Given the description of an element on the screen output the (x, y) to click on. 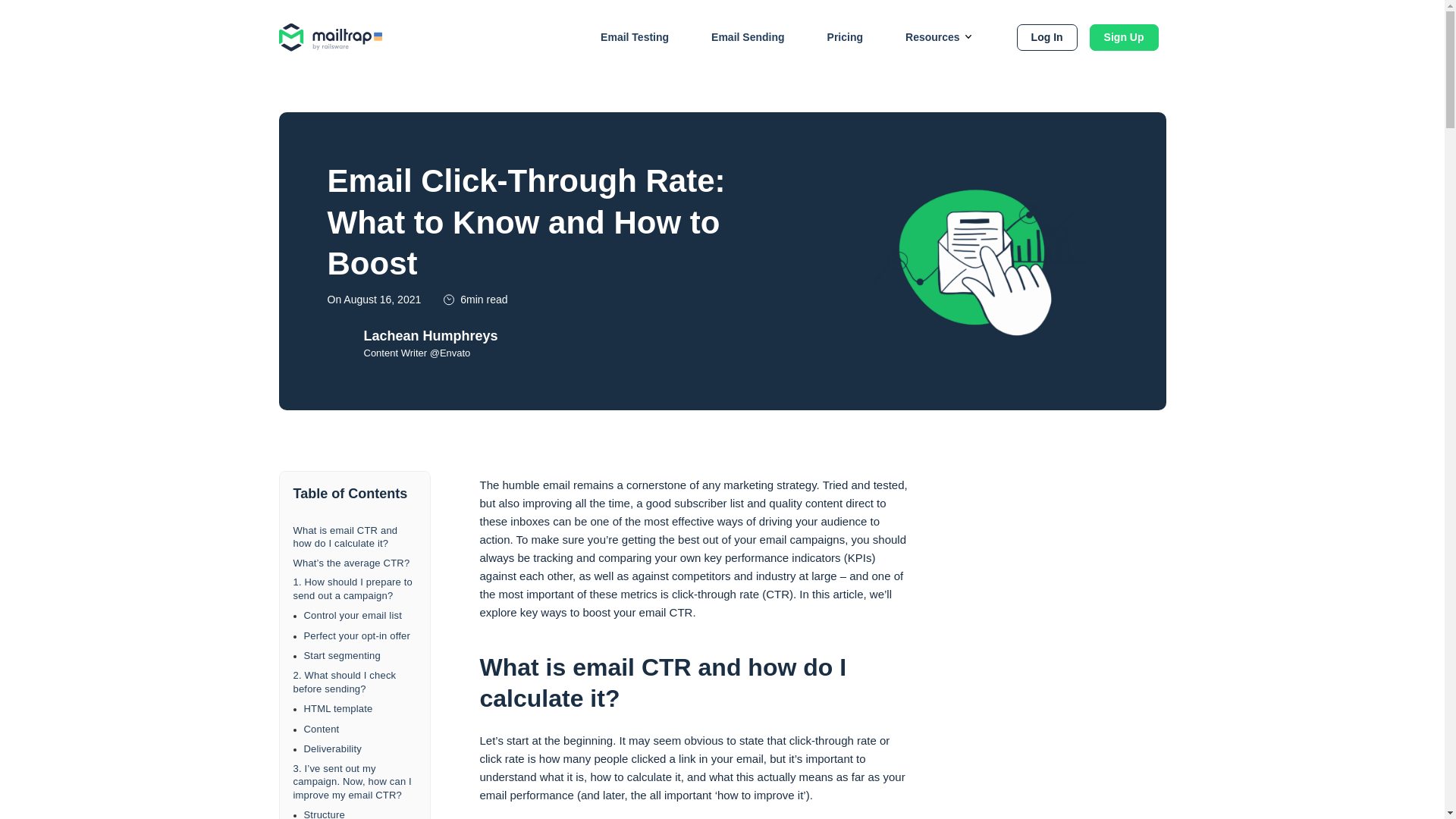
Deliverability (358, 748)
What is email CTR and how do I calculate it? (353, 537)
Sign Up (1123, 37)
1. How should I prepare to send out a campaign? (353, 588)
2. What should I check before sending? (353, 682)
Content (358, 729)
Control your email list (358, 615)
Structure (358, 813)
Log In (1046, 37)
Start segmenting (358, 655)
